Given the description of an element on the screen output the (x, y) to click on. 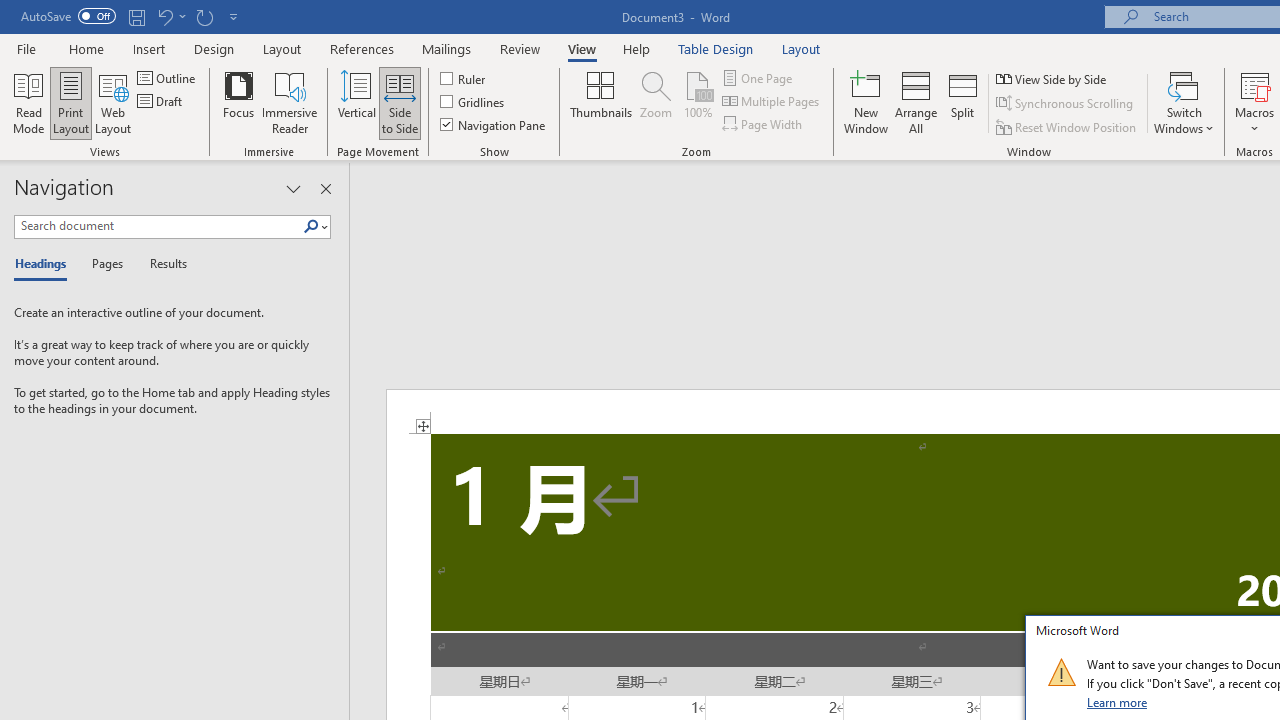
Outline (168, 78)
One Page (758, 78)
Repeat Doc Close (204, 15)
Macros (1254, 102)
Zoom... (655, 102)
Side to Side (399, 102)
Gridlines (473, 101)
